Given the description of an element on the screen output the (x, y) to click on. 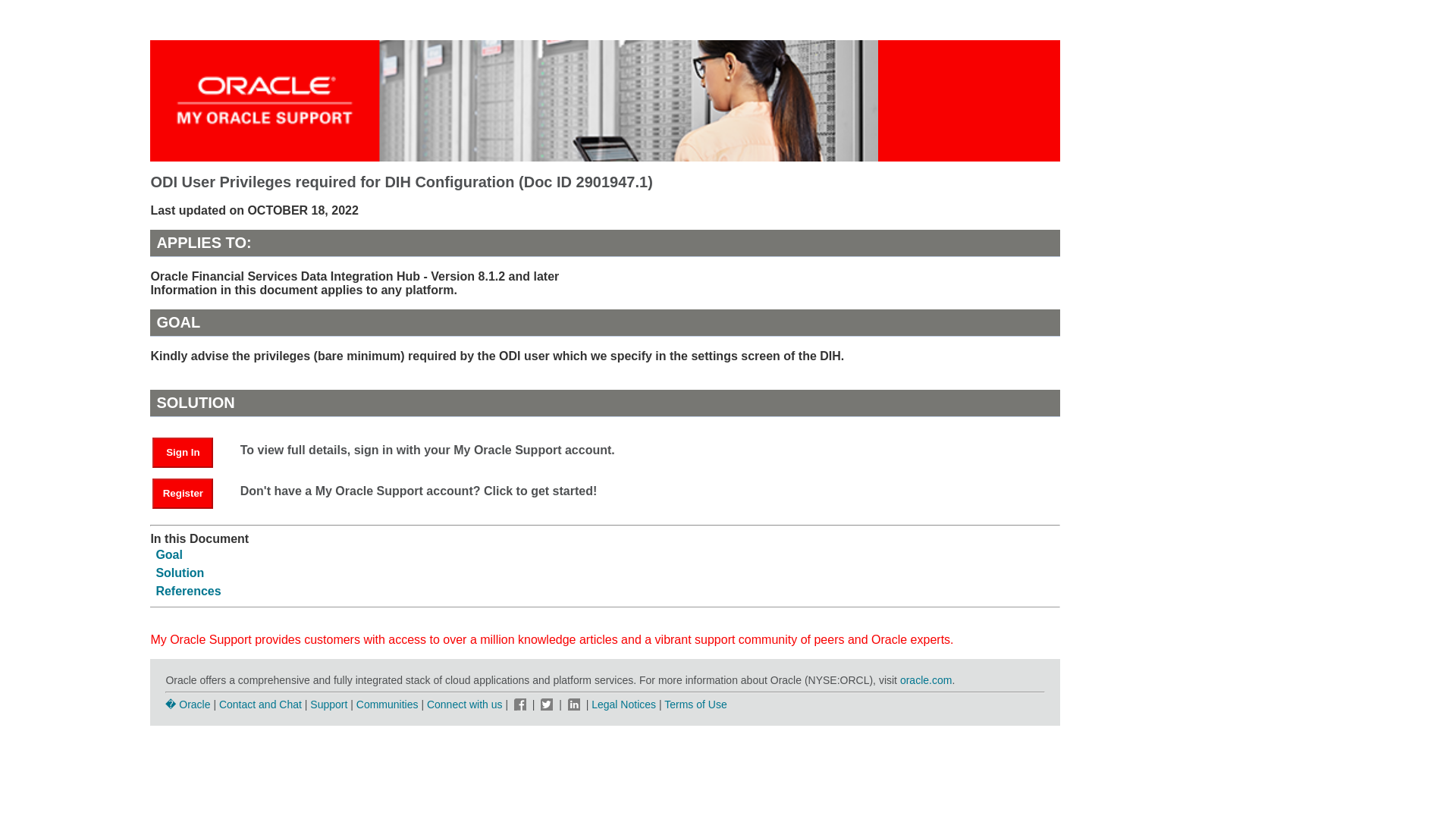
Communities (387, 704)
Register (182, 493)
References (188, 590)
oracle.com (925, 680)
Register (190, 492)
Sign In (182, 452)
Solution (179, 572)
oracle.com (925, 680)
Contact and Chat (260, 704)
Connect with us (465, 704)
